Given the description of an element on the screen output the (x, y) to click on. 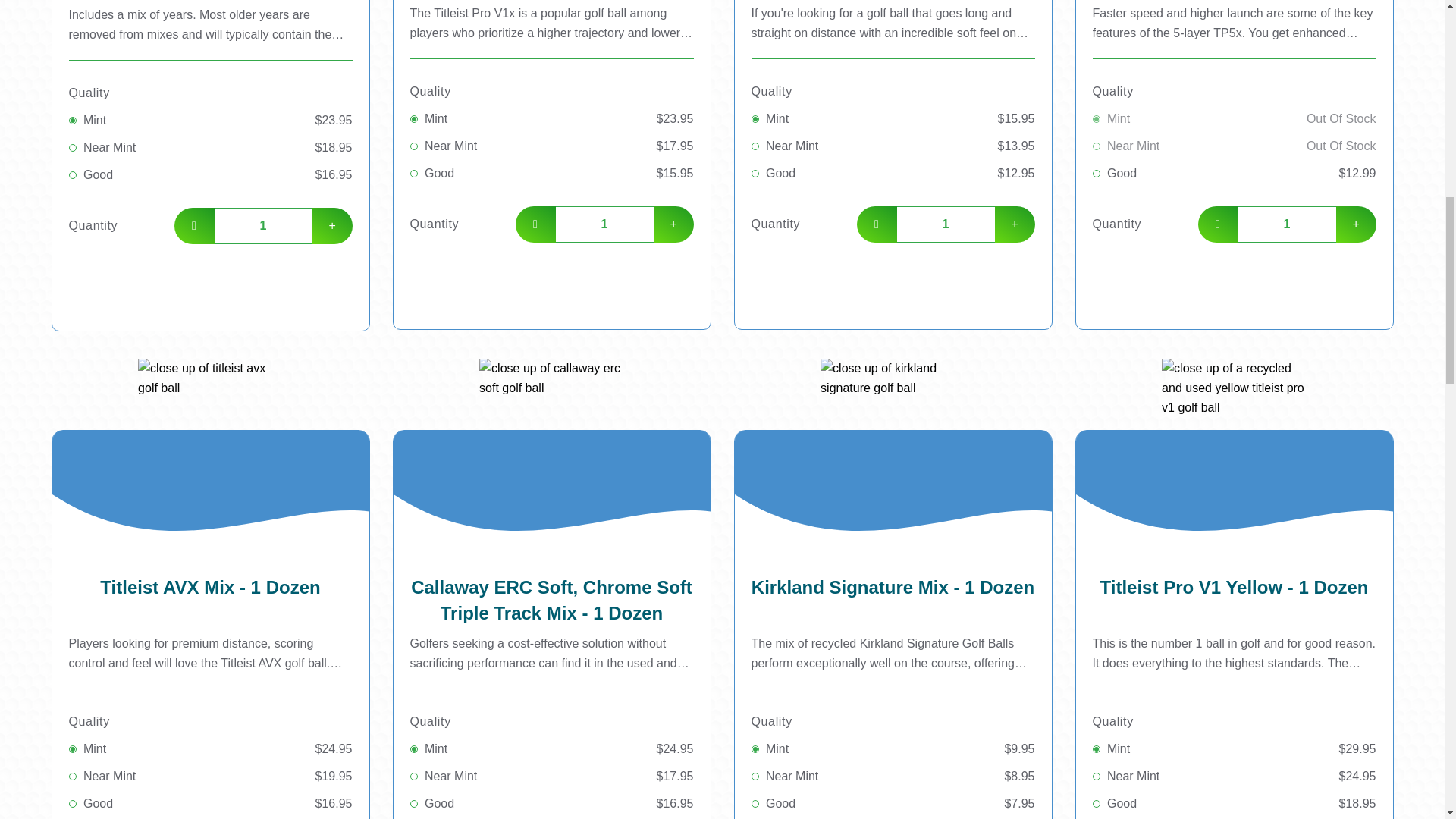
1 (262, 226)
1 (603, 224)
Add to Cart (1233, 275)
Add to Cart (210, 277)
Add to Cart (551, 275)
1 (1286, 224)
1 (945, 224)
Add to Cart (892, 275)
